Given the description of an element on the screen output the (x, y) to click on. 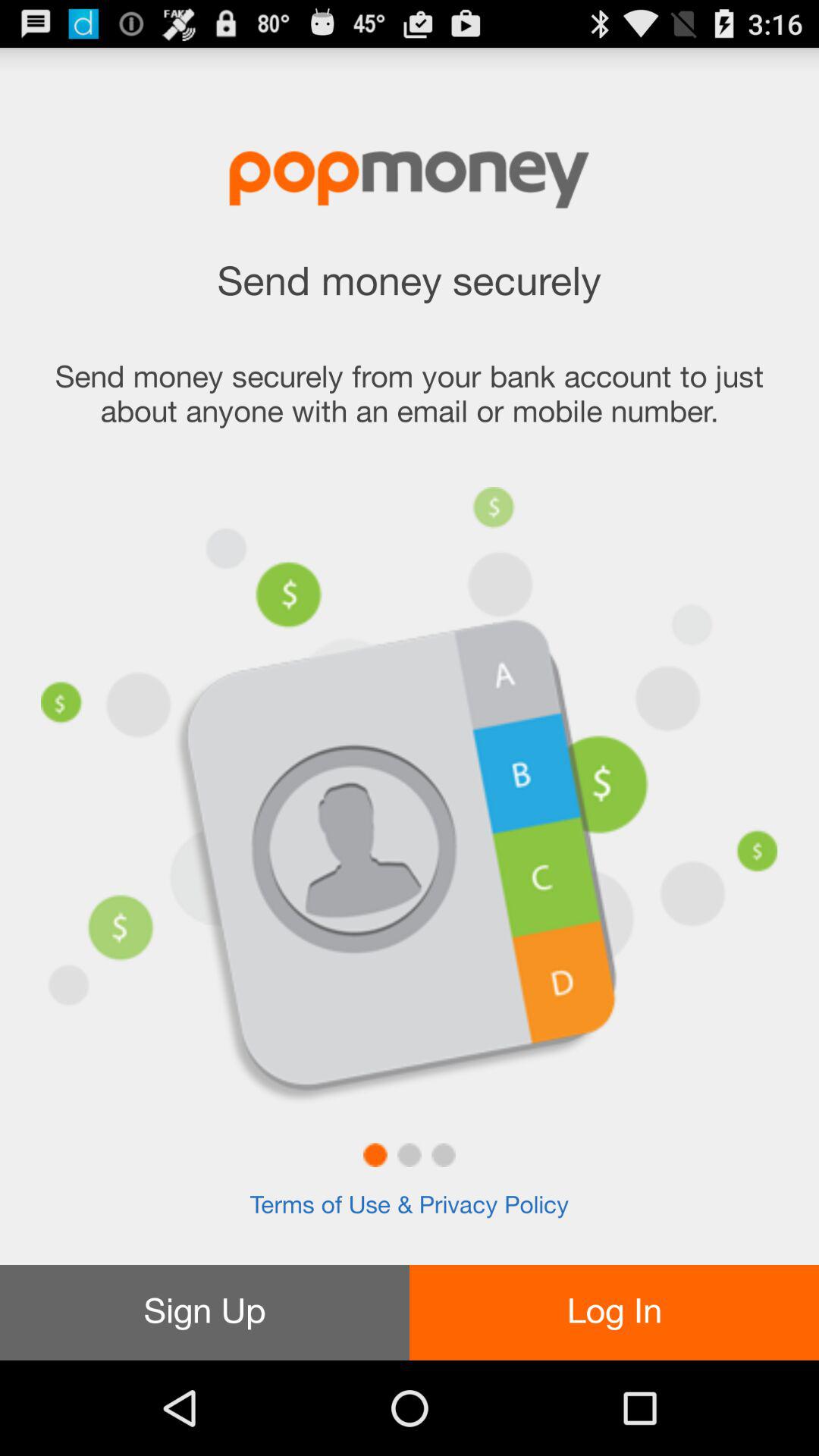
launch item below terms of use (614, 1312)
